Given the description of an element on the screen output the (x, y) to click on. 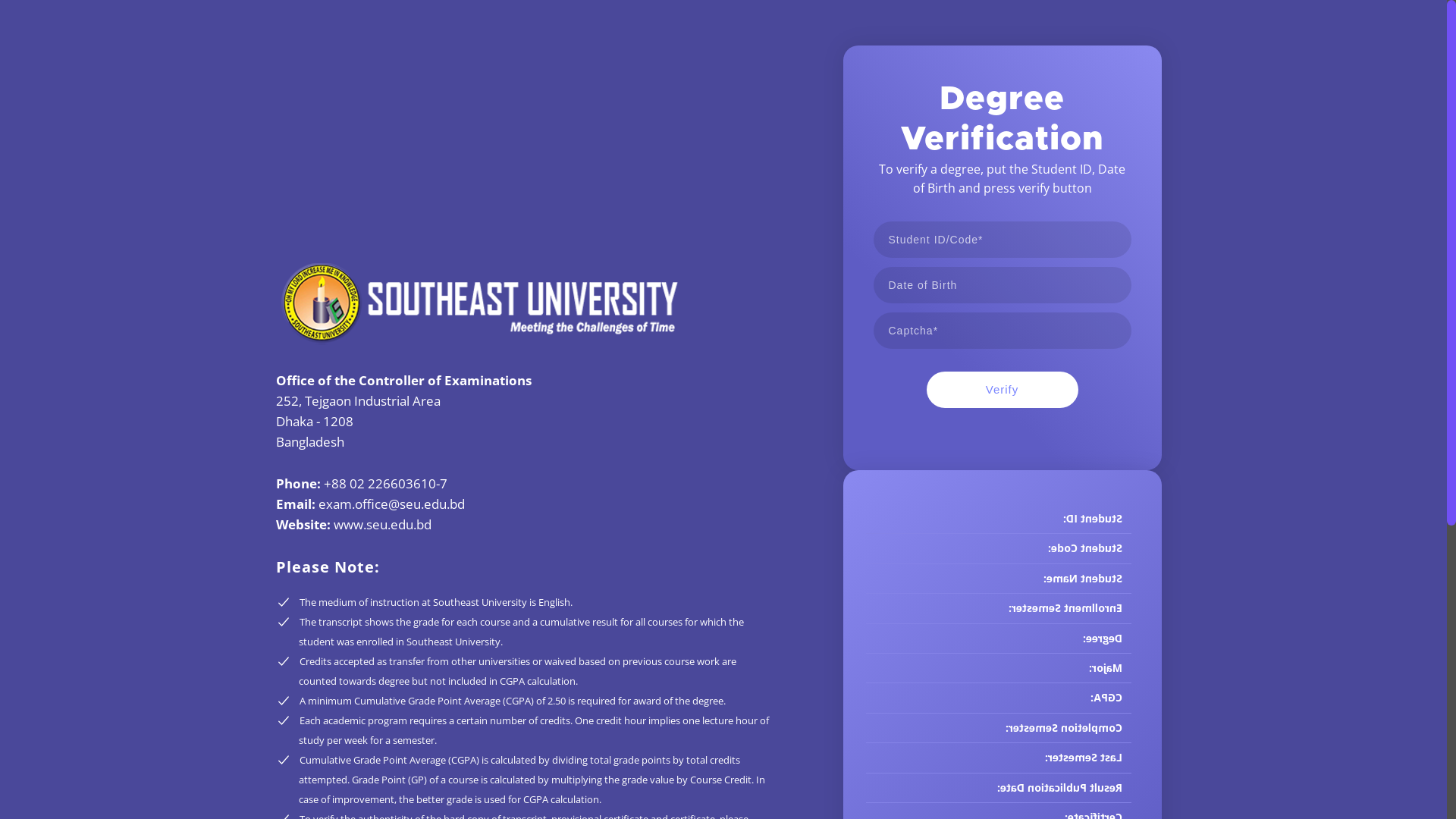
exam.office@seu.edu.bd Element type: text (391, 503)
Verify Element type: text (1002, 389)
+88 02 226603610-7 Element type: text (385, 483)
www.seu.edu.bd Element type: text (382, 524)
